Given the description of an element on the screen output the (x, y) to click on. 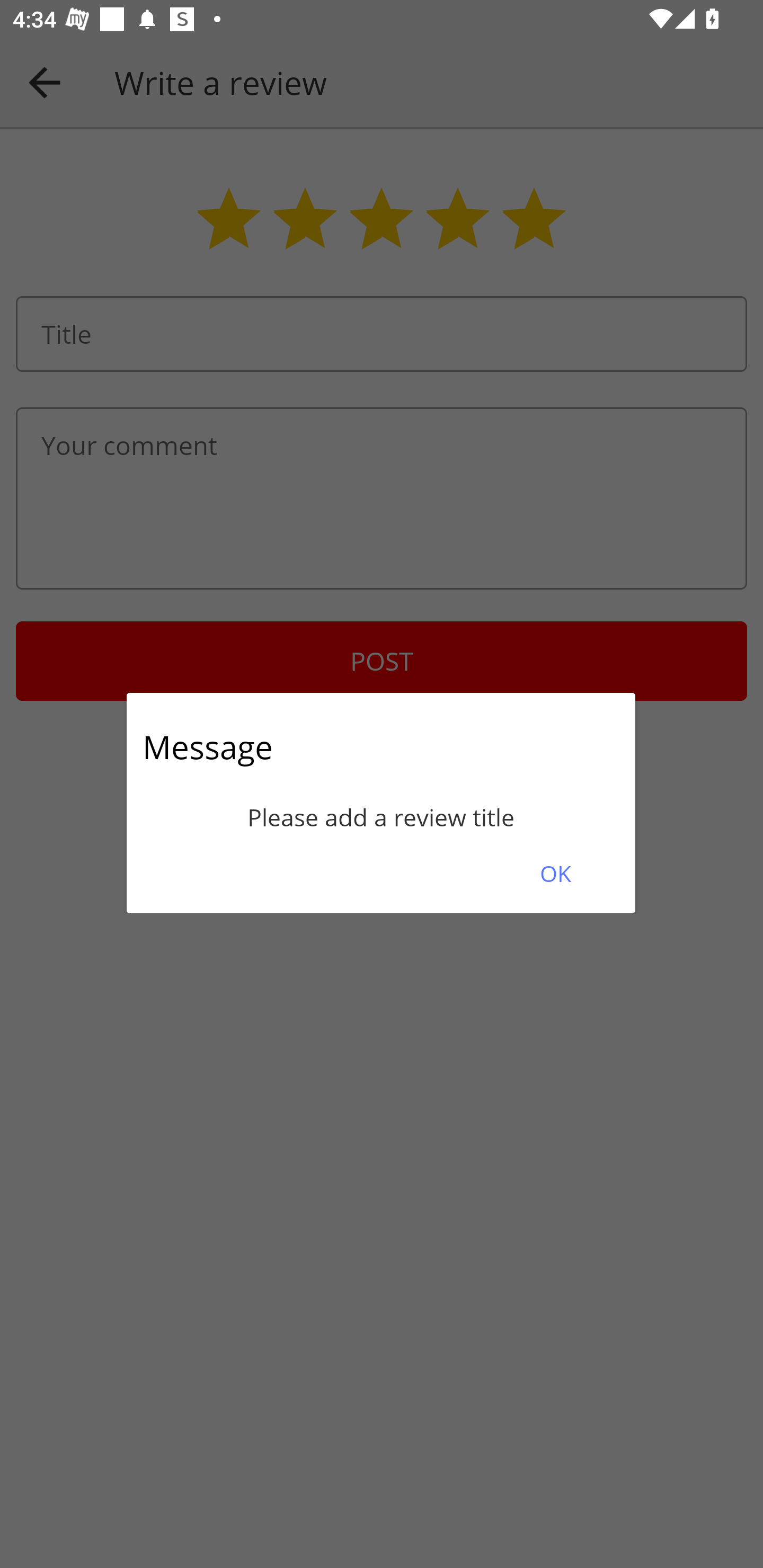
OK (555, 873)
